Given the description of an element on the screen output the (x, y) to click on. 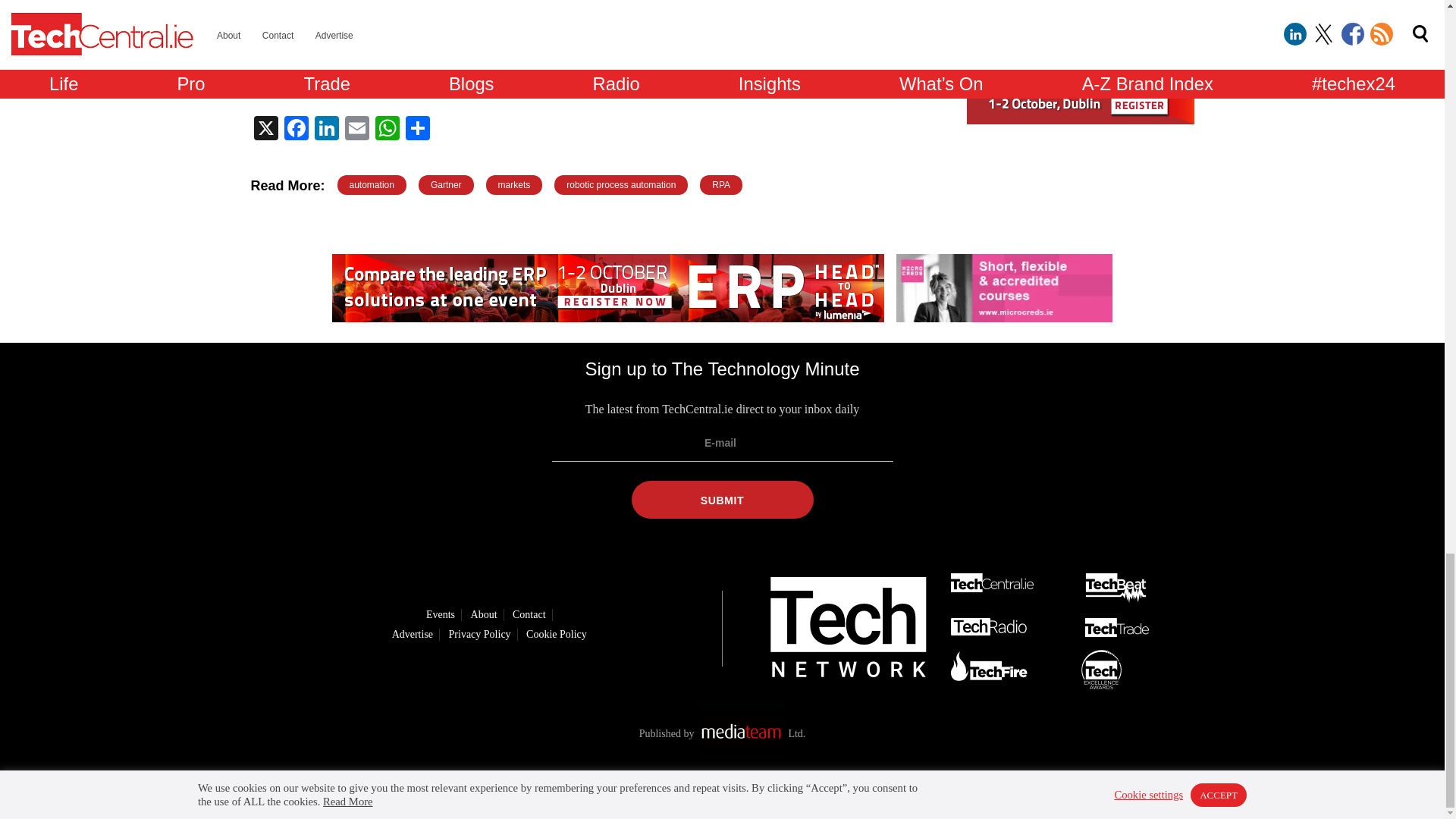
Follow on LinkedIn (654, 790)
Submit (721, 499)
Follow on Twitter (698, 790)
